Given the description of an element on the screen output the (x, y) to click on. 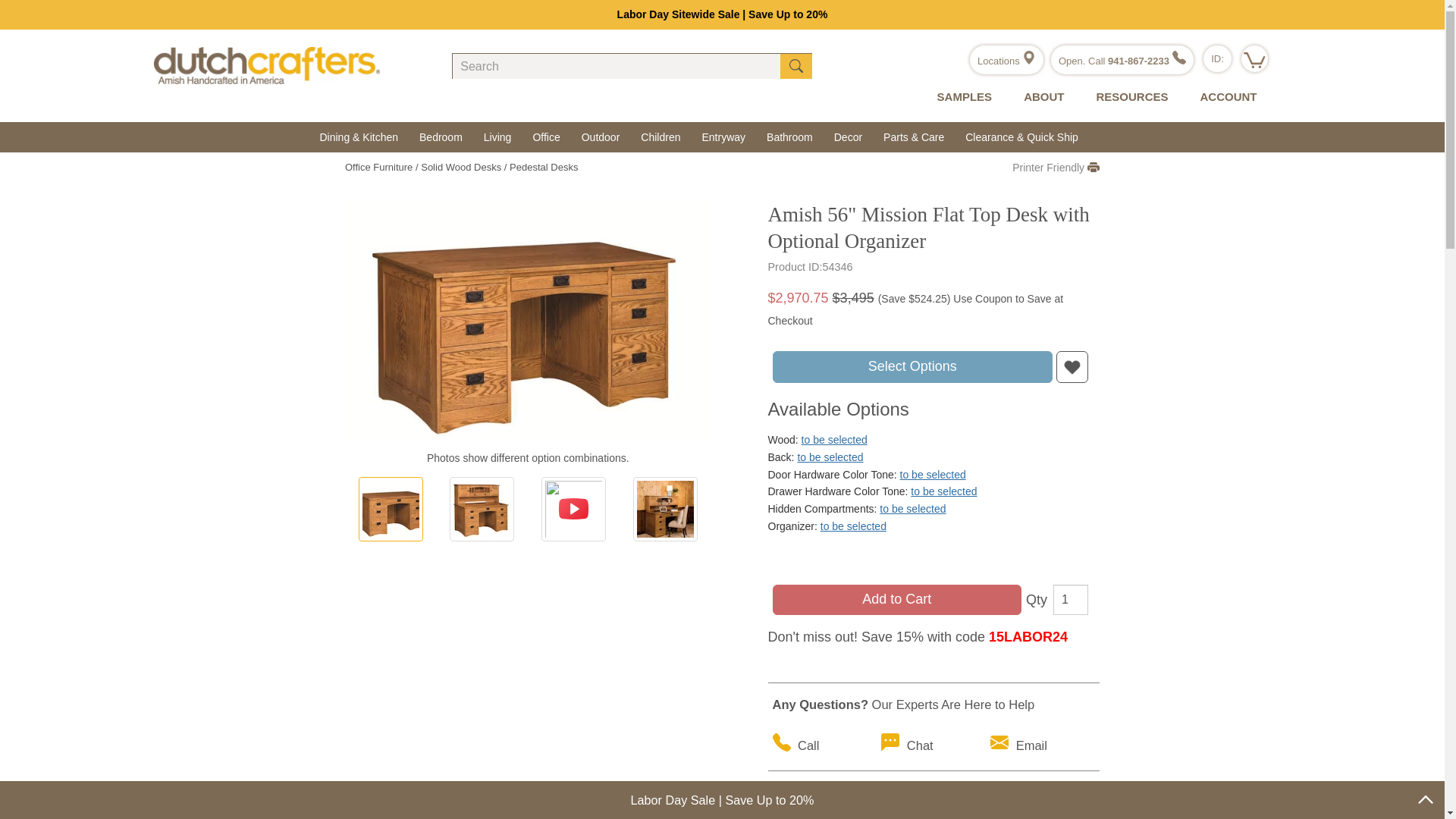
1 (1069, 599)
Locations (1005, 60)
ABOUT (1039, 96)
Open. Call 941-867-2233 (1122, 60)
SAMPLES (961, 96)
RESOURCES (1128, 96)
ACCOUNT (1224, 96)
